Given the description of an element on the screen output the (x, y) to click on. 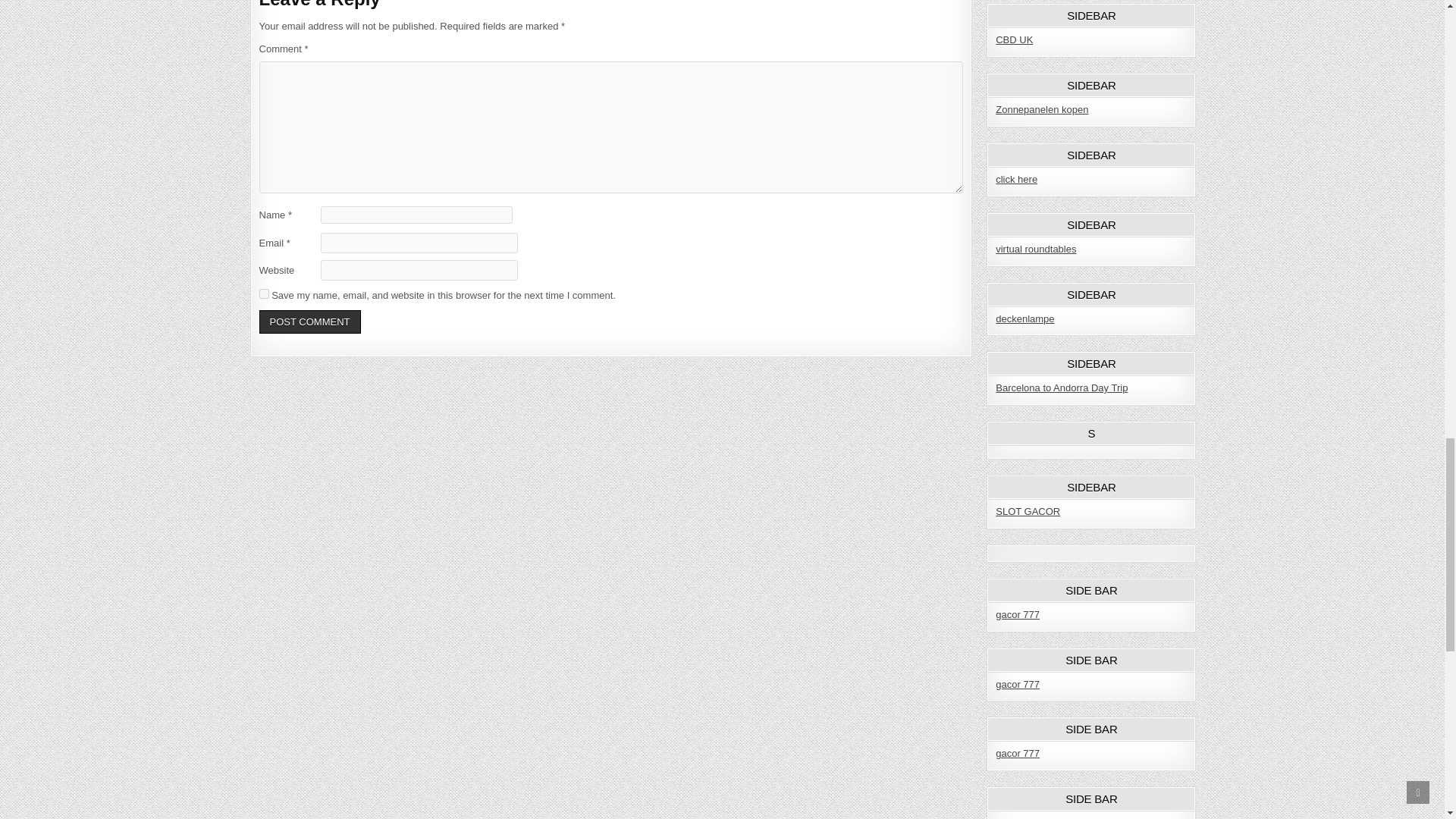
Post Comment (310, 321)
yes (264, 293)
Post Comment (310, 321)
